Given the description of an element on the screen output the (x, y) to click on. 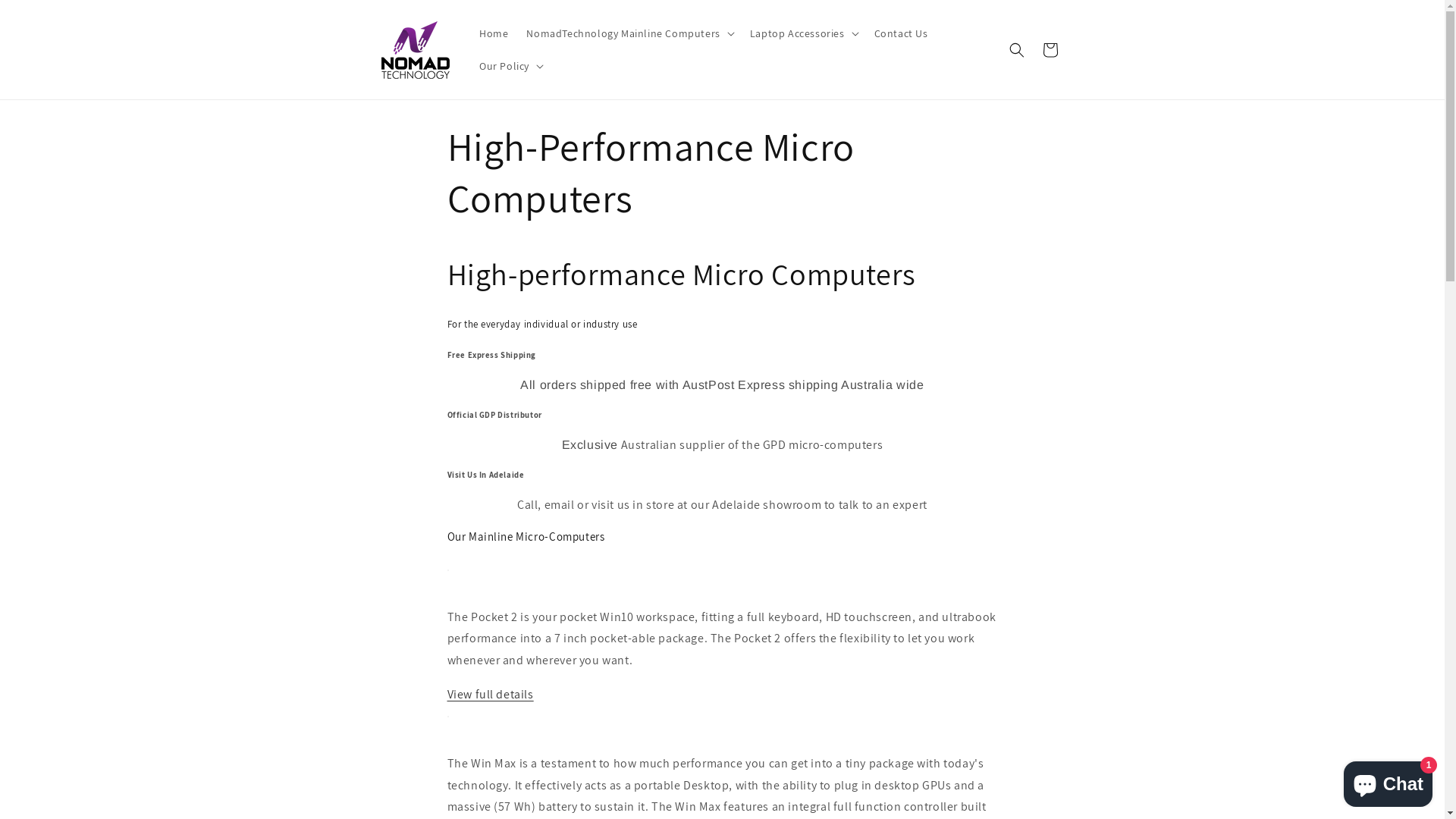
View full details Element type: text (490, 694)
Cart Element type: text (1049, 49)
Home Element type: text (493, 33)
Contact Us Element type: text (901, 33)
Shopify online store chat Element type: hover (1388, 780)
